Given the description of an element on the screen output the (x, y) to click on. 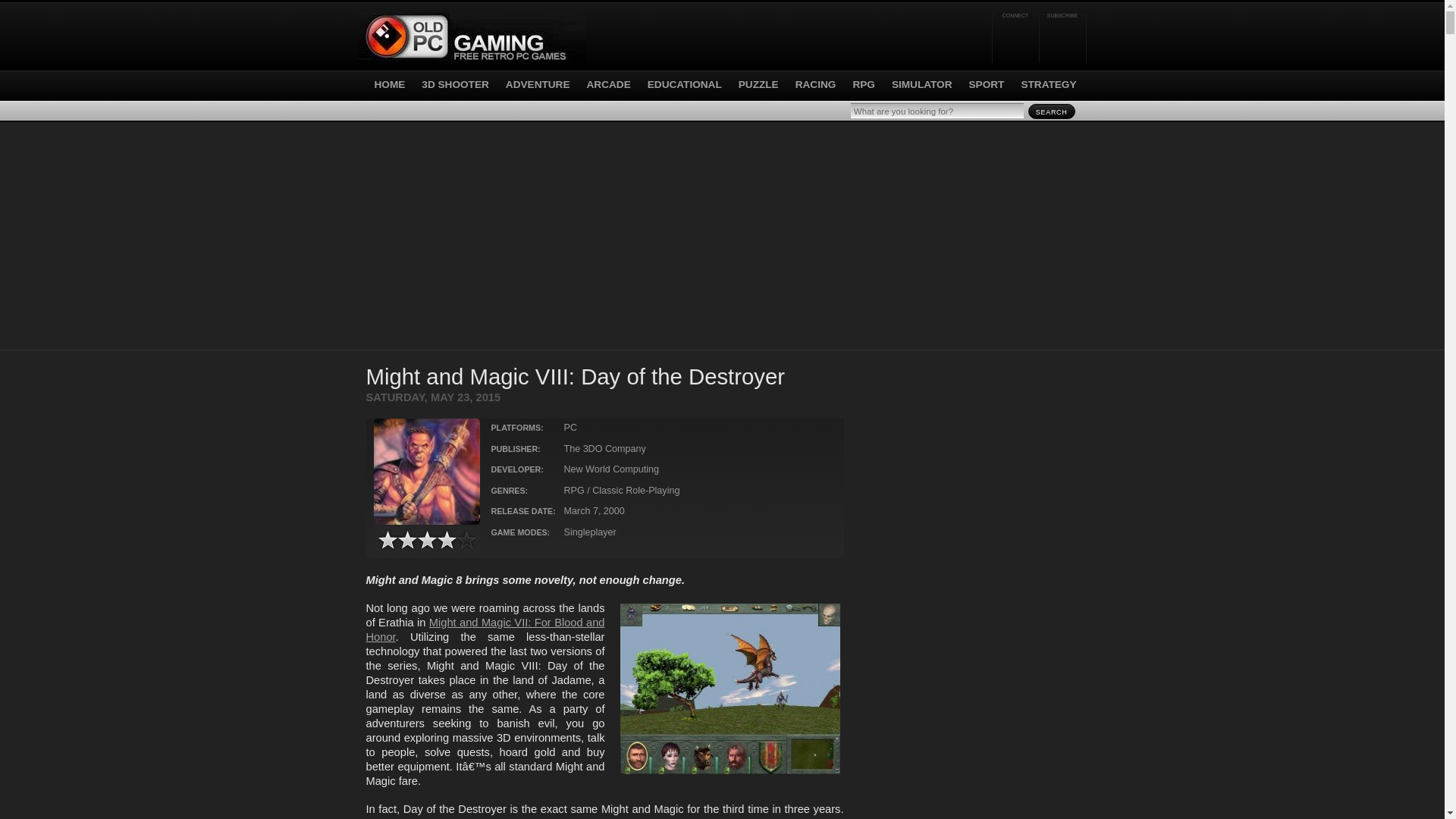
Old PC Gaming (471, 37)
Might and Magic VIII: Day of the Destroyer (425, 471)
ADVENTURE (537, 84)
SPORT (986, 84)
PUZZLE (758, 84)
Might and Magic VII: For Blood and Honor (484, 629)
3D SHOOTER (454, 84)
SEARCH (1051, 111)
SIMULATOR (921, 84)
HOME (386, 84)
RPG (863, 84)
EDUCATIONAL (684, 84)
RACING (814, 84)
ARCADE (608, 84)
STRATEGY (1047, 84)
